Given the description of an element on the screen output the (x, y) to click on. 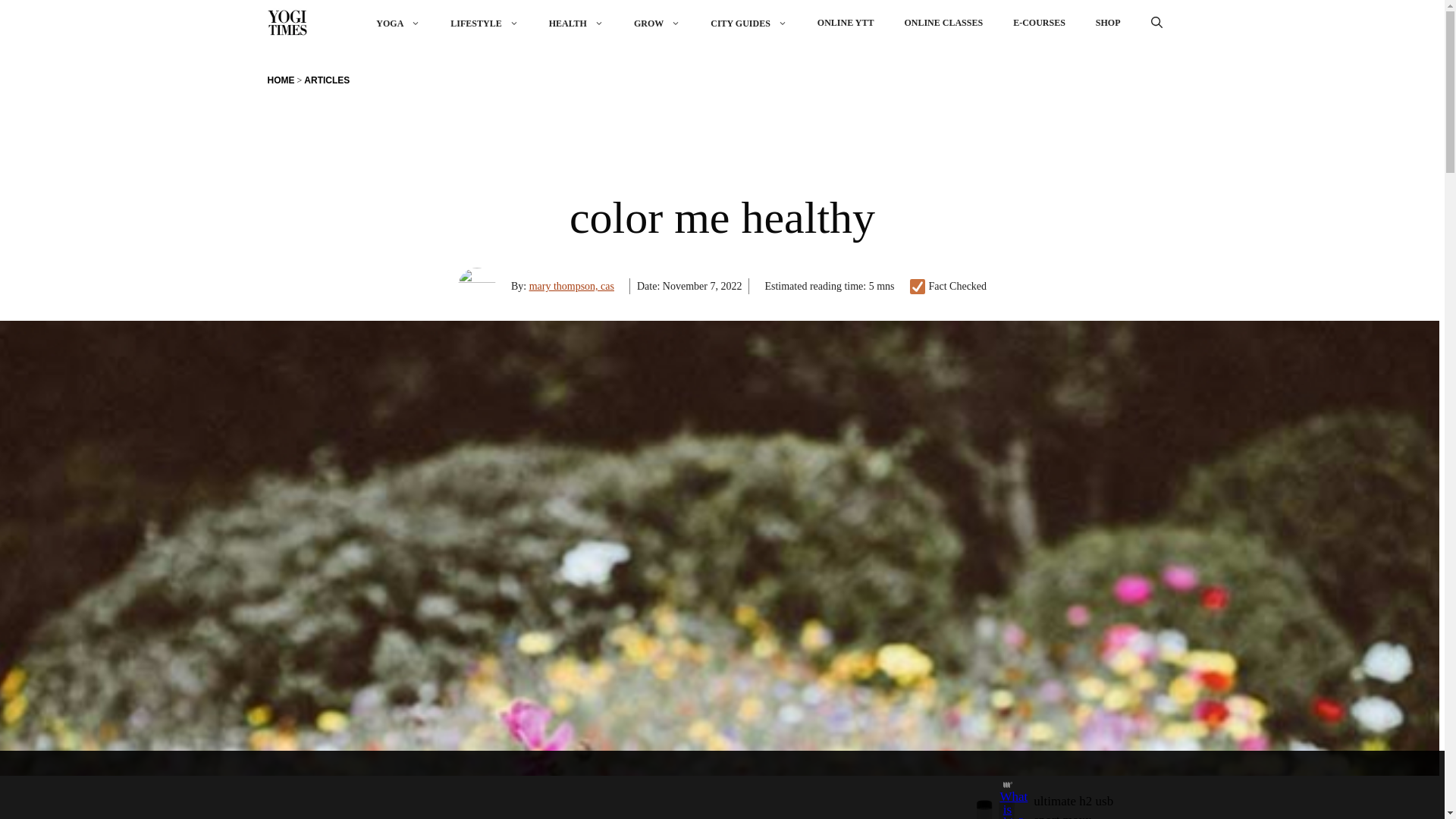
3rd party ad content (708, 785)
YOGI TIMES (285, 22)
